Given the description of an element on the screen output the (x, y) to click on. 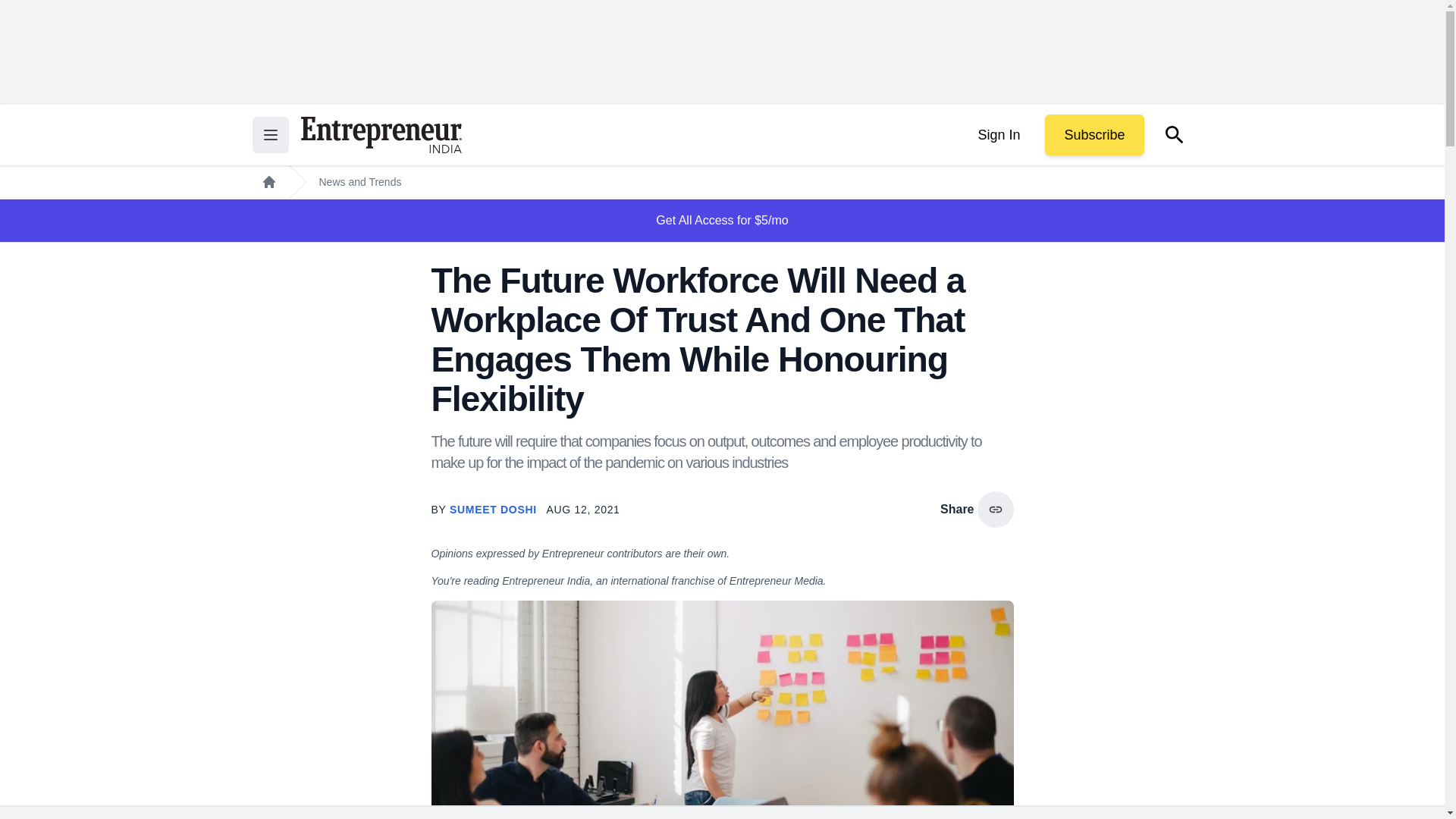
Subscribe (1093, 134)
Return to the home page (380, 135)
Sign In (998, 134)
copy (994, 509)
